Given the description of an element on the screen output the (x, y) to click on. 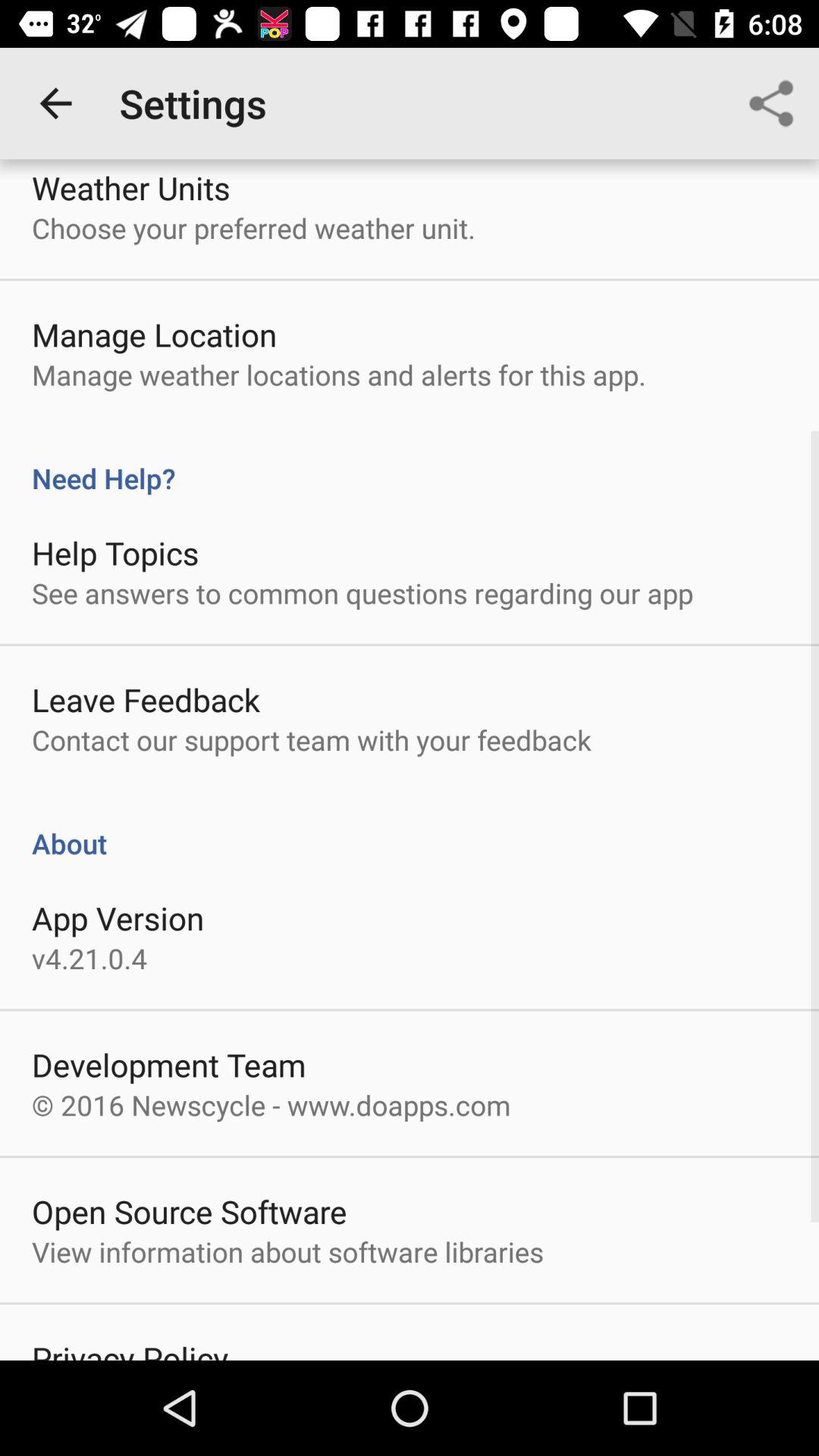
jump to the contact our support (311, 739)
